Given the description of an element on the screen output the (x, y) to click on. 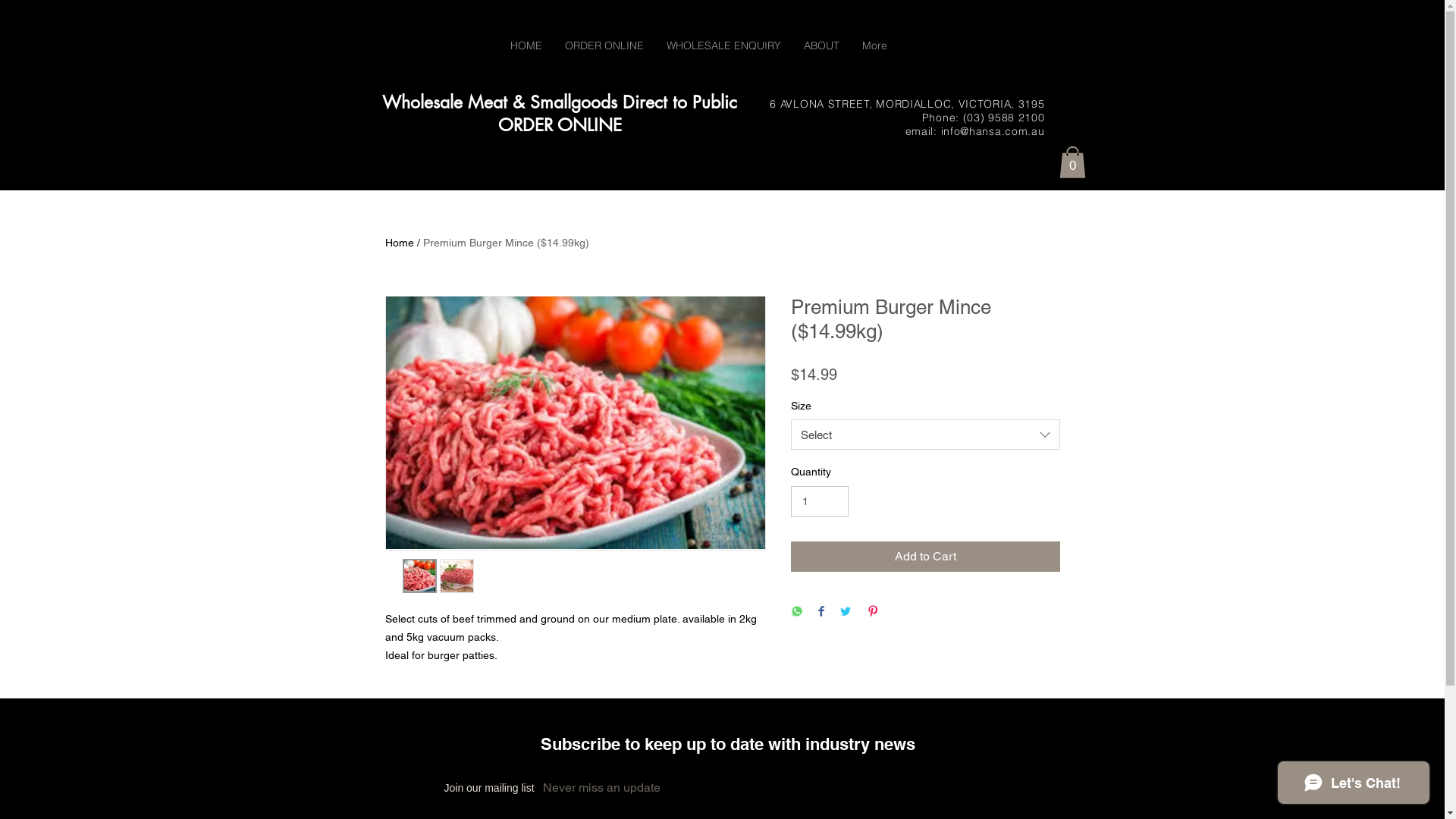
info@hansa.com.au Element type: text (992, 131)
0 Element type: text (1071, 162)
ORDER ONLINE Element type: text (604, 45)
WHOLESALE ENQUIRY Element type: text (723, 45)
Select Element type: text (924, 434)
Premium Burger Mince ($14.99kg) Element type: text (506, 242)
Home Element type: text (399, 242)
HOME Element type: text (525, 45)
Add to Cart Element type: text (924, 556)
ABOUT Element type: text (820, 45)
